Given the description of an element on the screen output the (x, y) to click on. 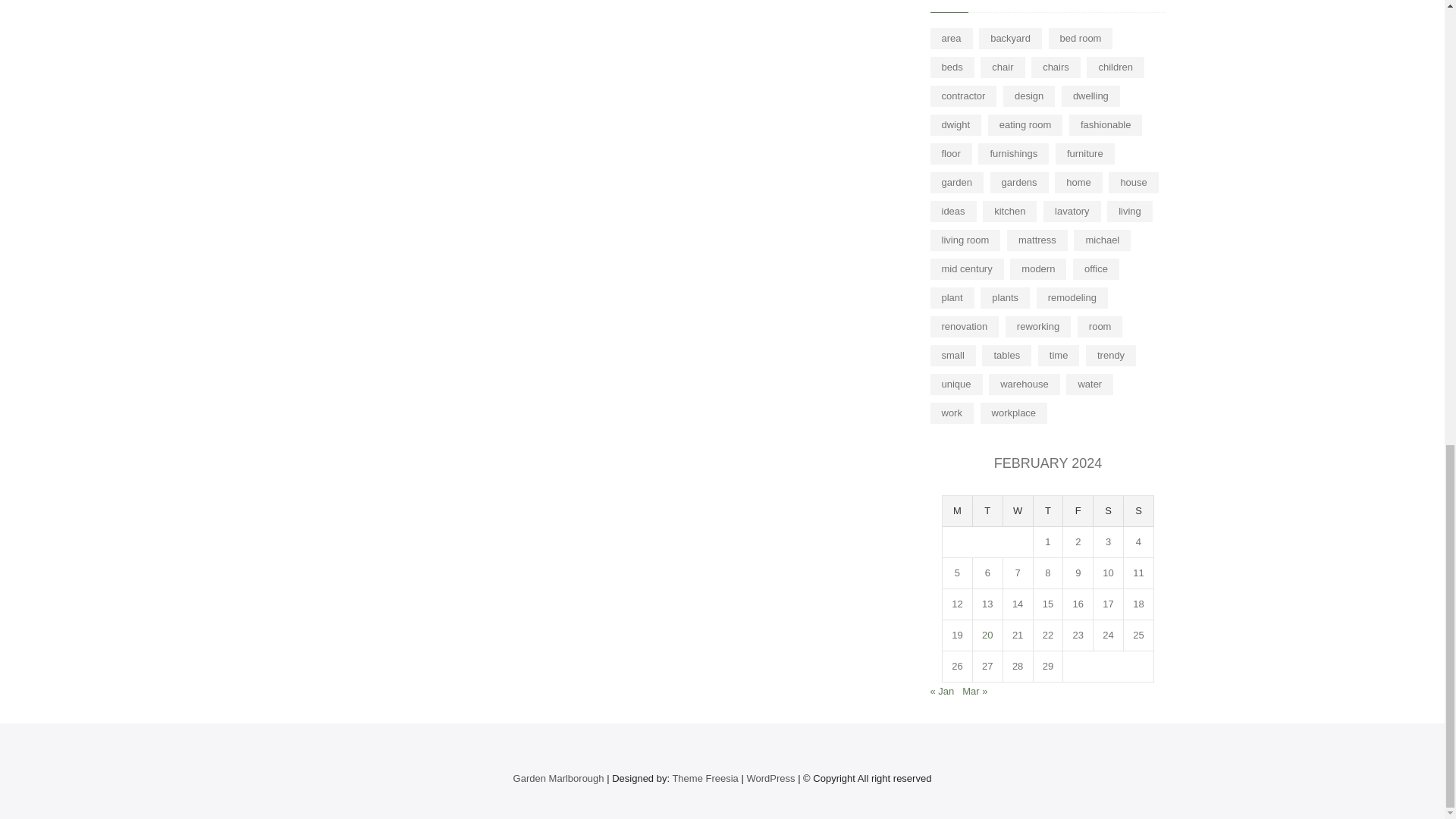
Tuesday (987, 511)
Saturday (1108, 511)
Monday (957, 511)
Friday (1077, 511)
Garden Marlborough (558, 778)
Sunday (1139, 511)
Theme Freesia (704, 778)
WordPress (769, 778)
Thursday (1048, 511)
Wednesday (1018, 511)
